Given the description of an element on the screen output the (x, y) to click on. 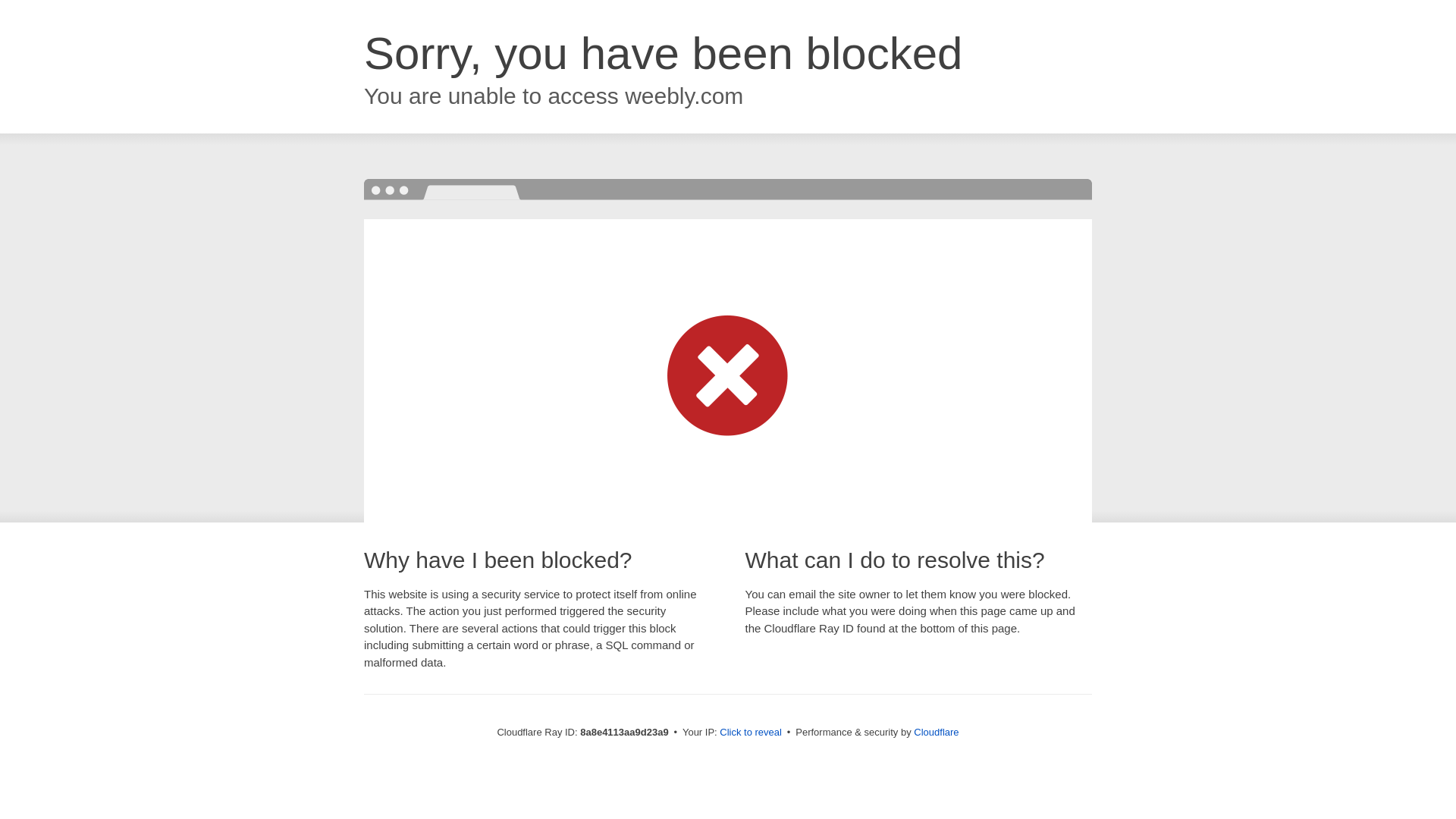
Cloudflare (936, 731)
Click to reveal (750, 732)
